Given the description of an element on the screen output the (x, y) to click on. 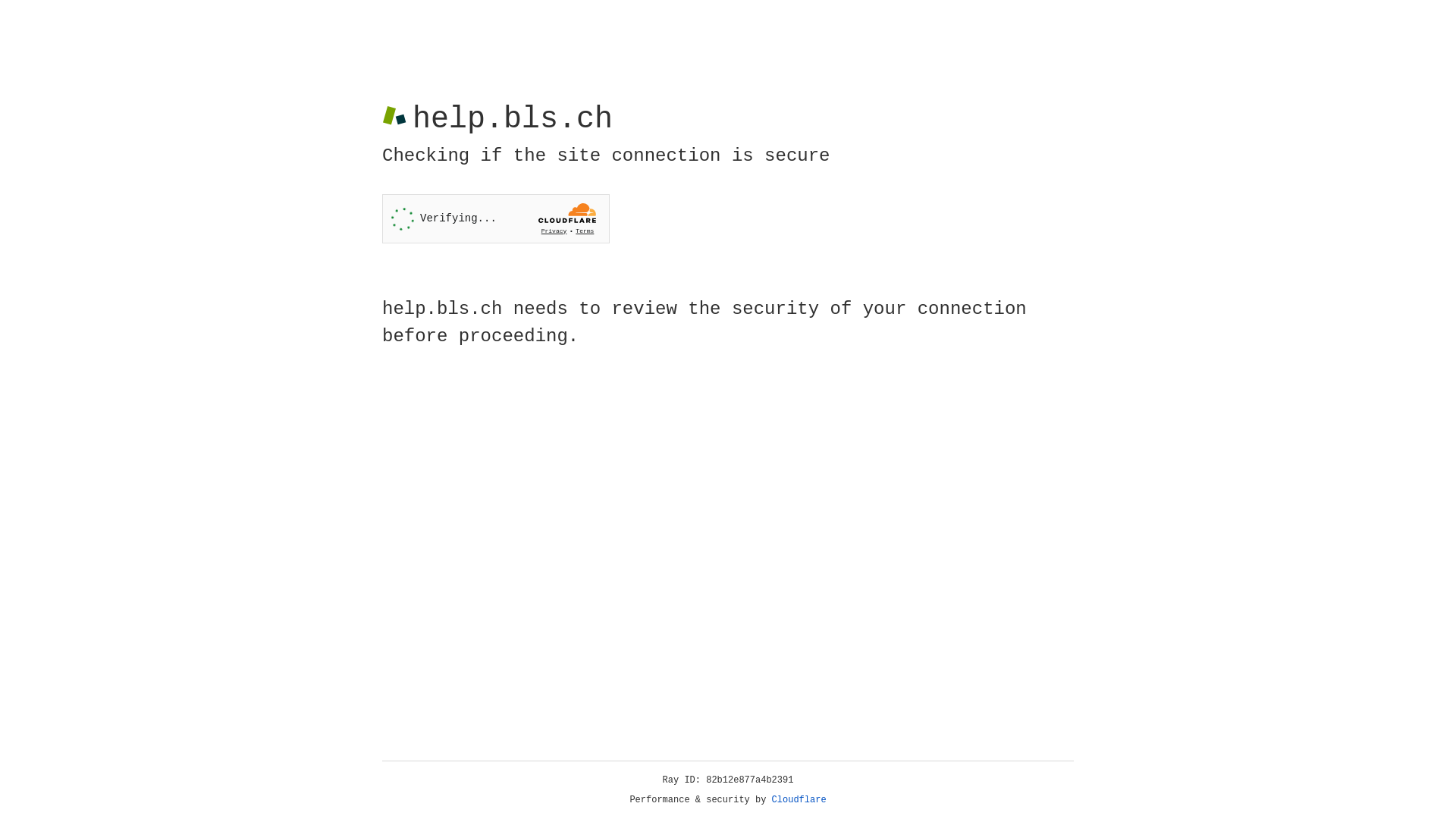
Widget containing a Cloudflare security challenge Element type: hover (495, 218)
Cloudflare Element type: text (798, 799)
